Given the description of an element on the screen output the (x, y) to click on. 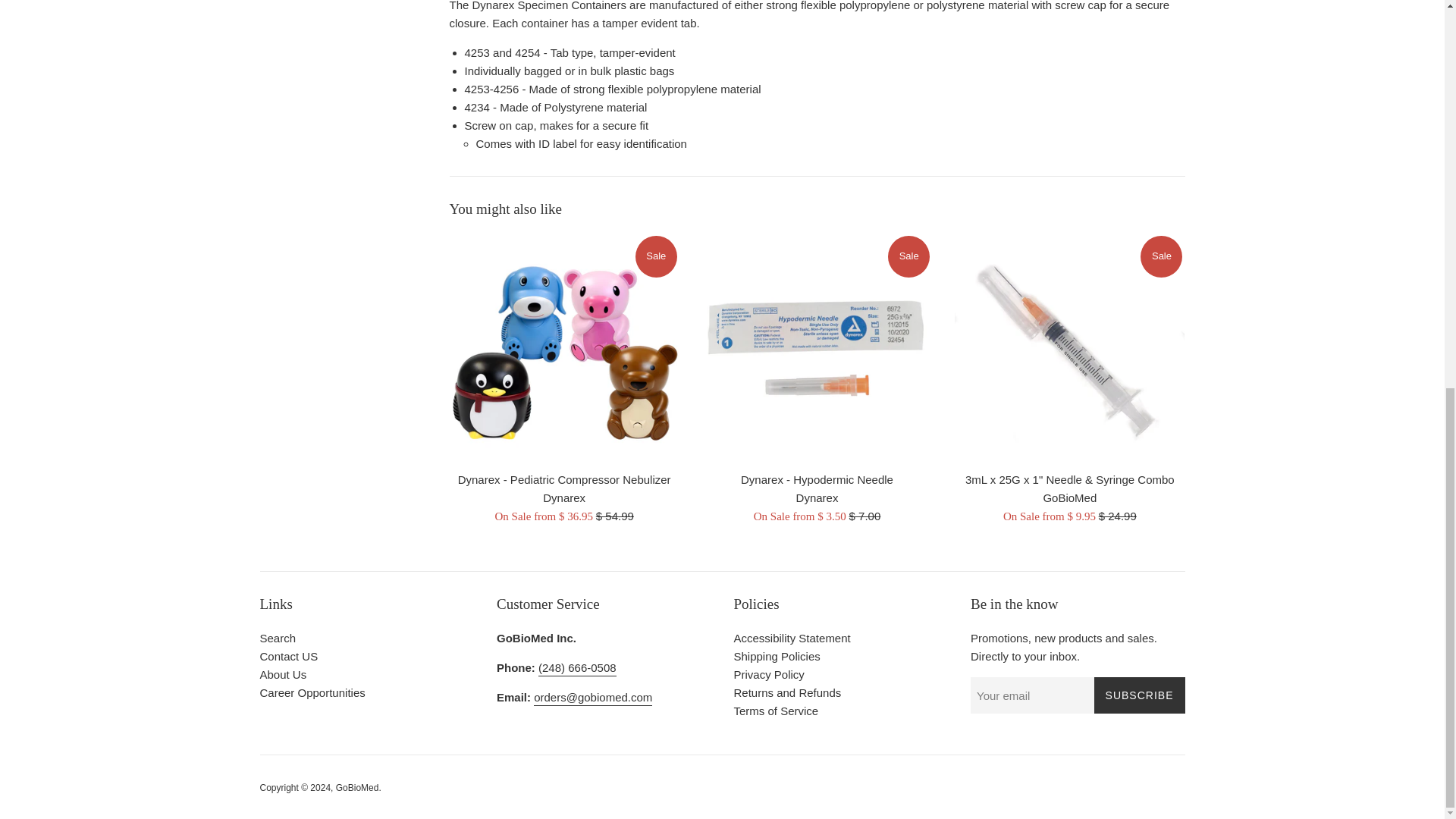
Customer Service Phone Number 2486660508 (576, 668)
Dynarex - Hypodermic Needle (816, 348)
Dynarex - Pediatric Compressor Nebulizer (563, 348)
